Given the description of an element on the screen output the (x, y) to click on. 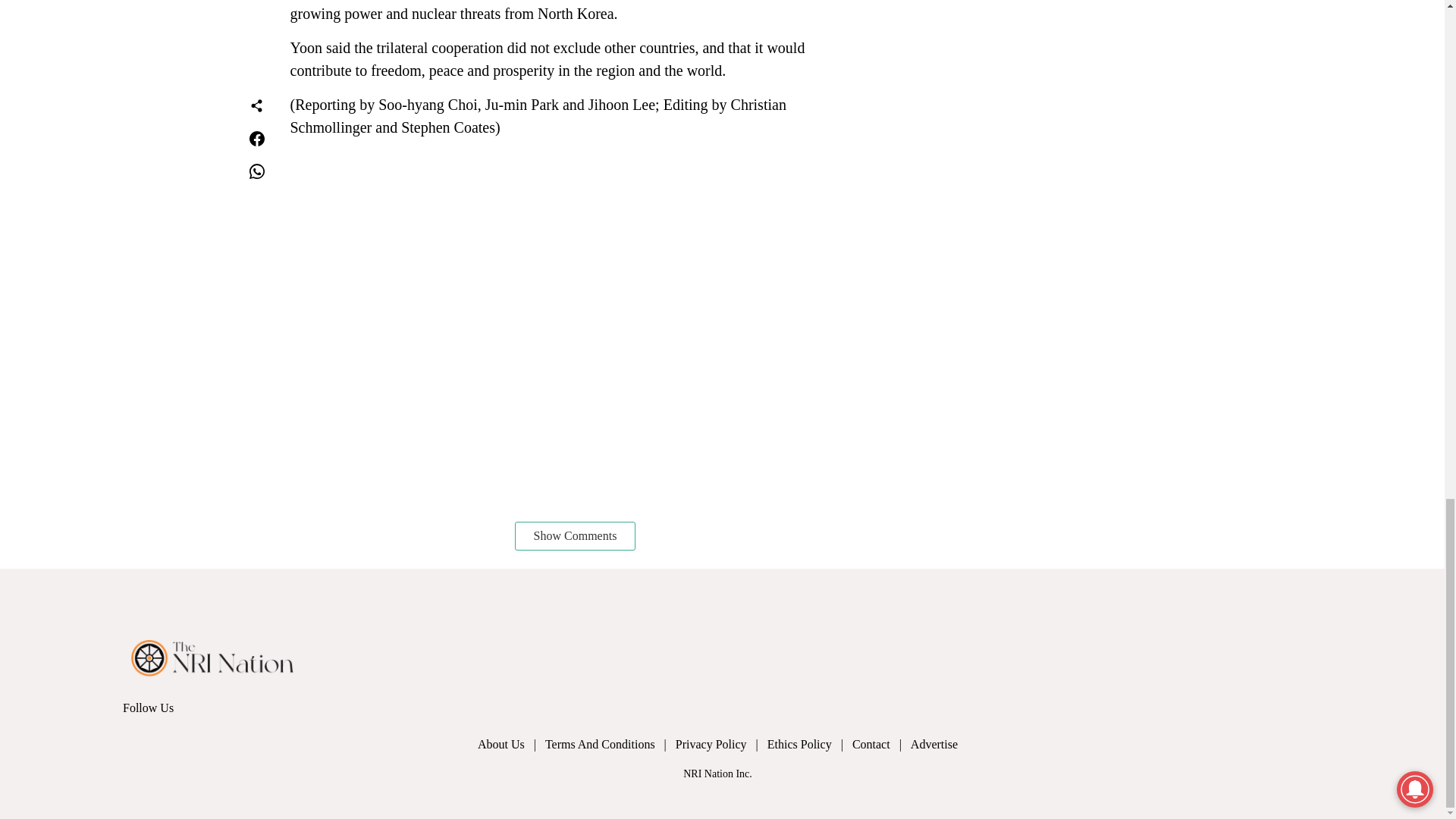
Show Comments (575, 535)
Ethics Policy (809, 744)
About Us (510, 744)
Advertise (938, 744)
Terms And Conditions (609, 744)
Contact (881, 744)
Privacy Policy (721, 744)
